Given the description of an element on the screen output the (x, y) to click on. 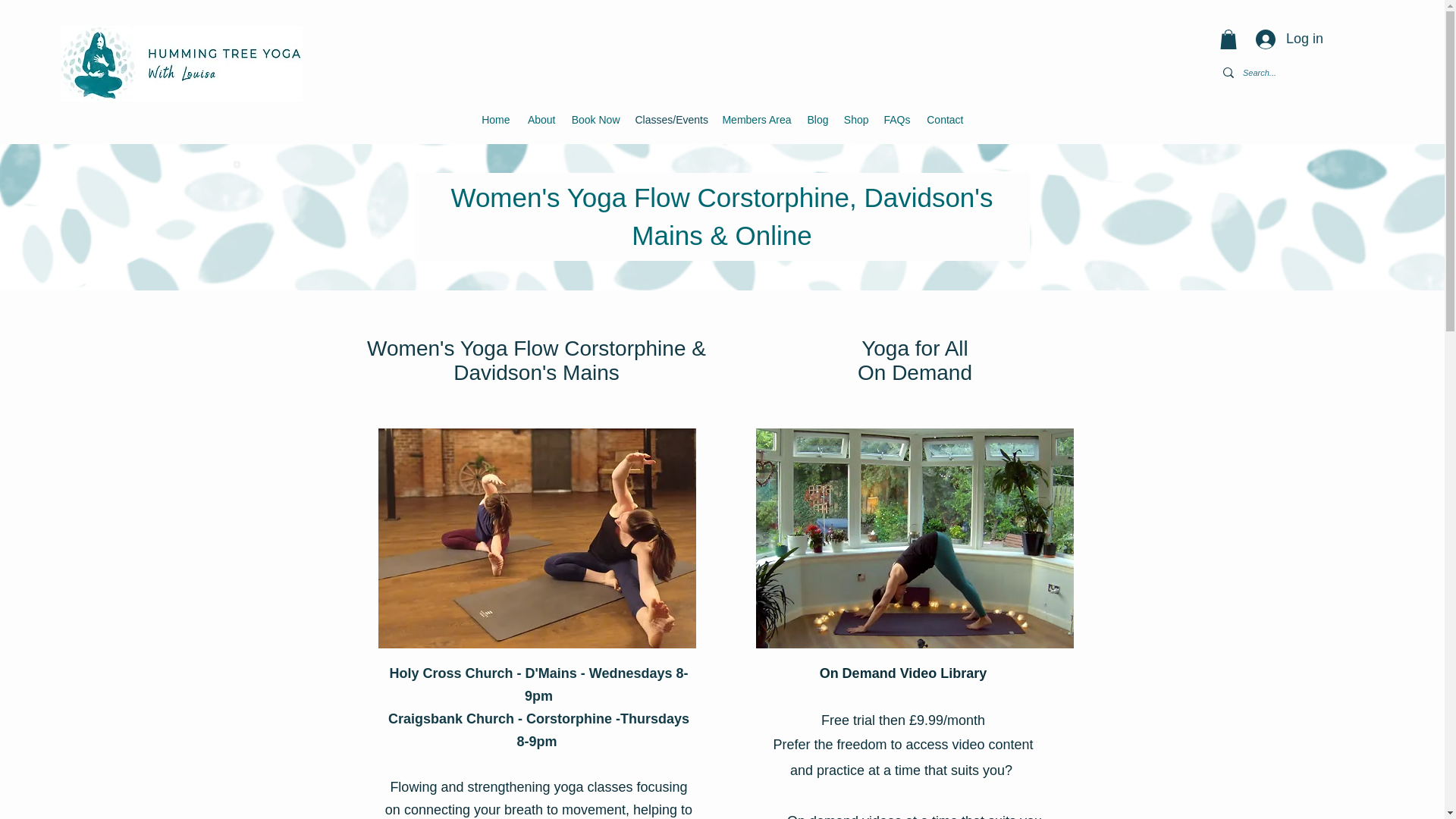
Online yog (914, 538)
About (539, 119)
Book Now (594, 119)
Women's Yoga (536, 538)
Log in (1288, 39)
Contact (944, 119)
Home (494, 119)
Members Area (756, 119)
Homepage (181, 63)
